Given the description of an element on the screen output the (x, y) to click on. 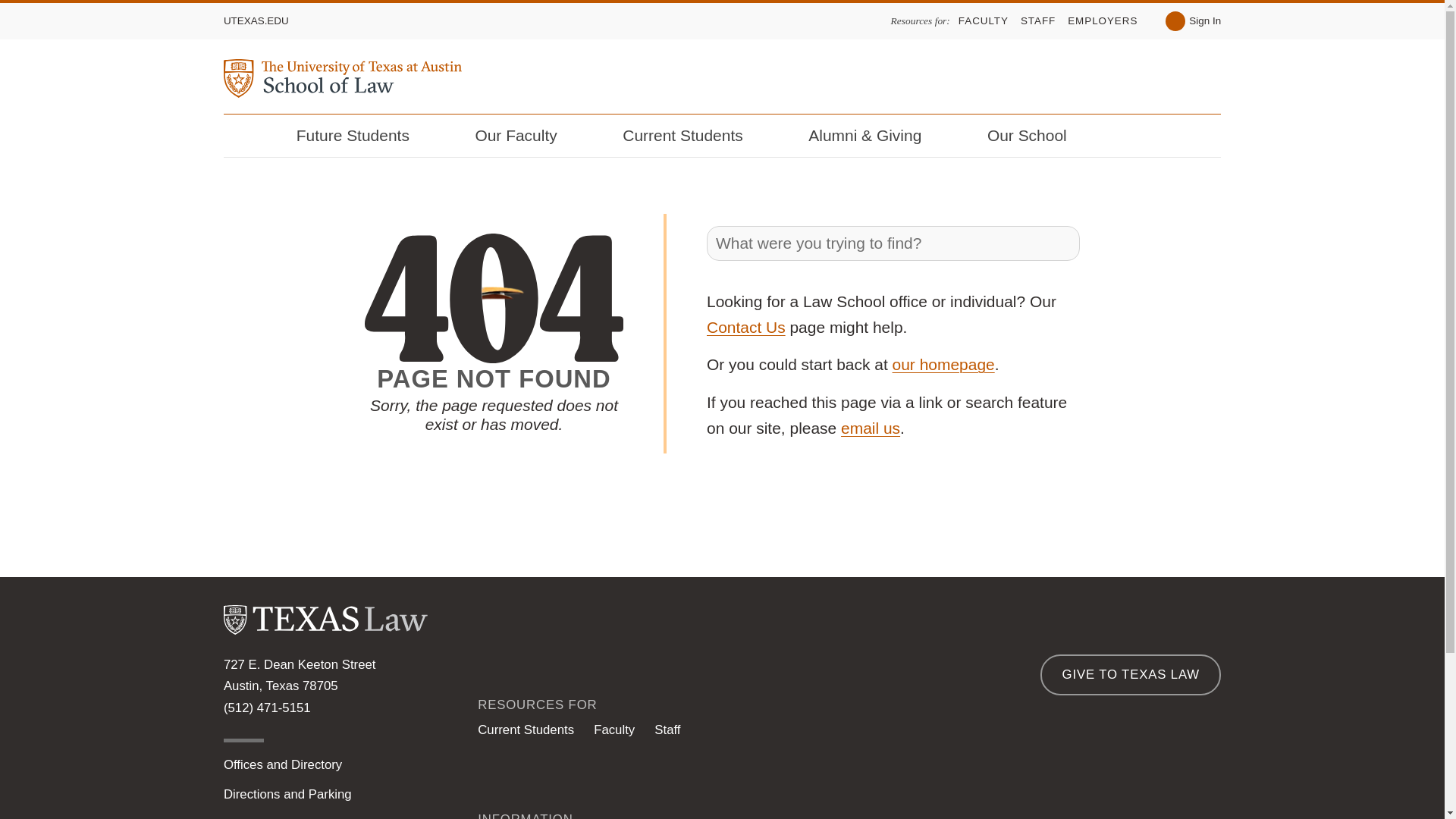
UTEXAS.EDU (256, 20)
EMPLOYERS (1102, 20)
FACULTY (983, 20)
Future Students (362, 135)
Skip to Main Content (21, 4)
Current Students (692, 135)
STAFF (1037, 20)
Sign In (1193, 21)
Our Faculty (526, 135)
